Given the description of an element on the screen output the (x, y) to click on. 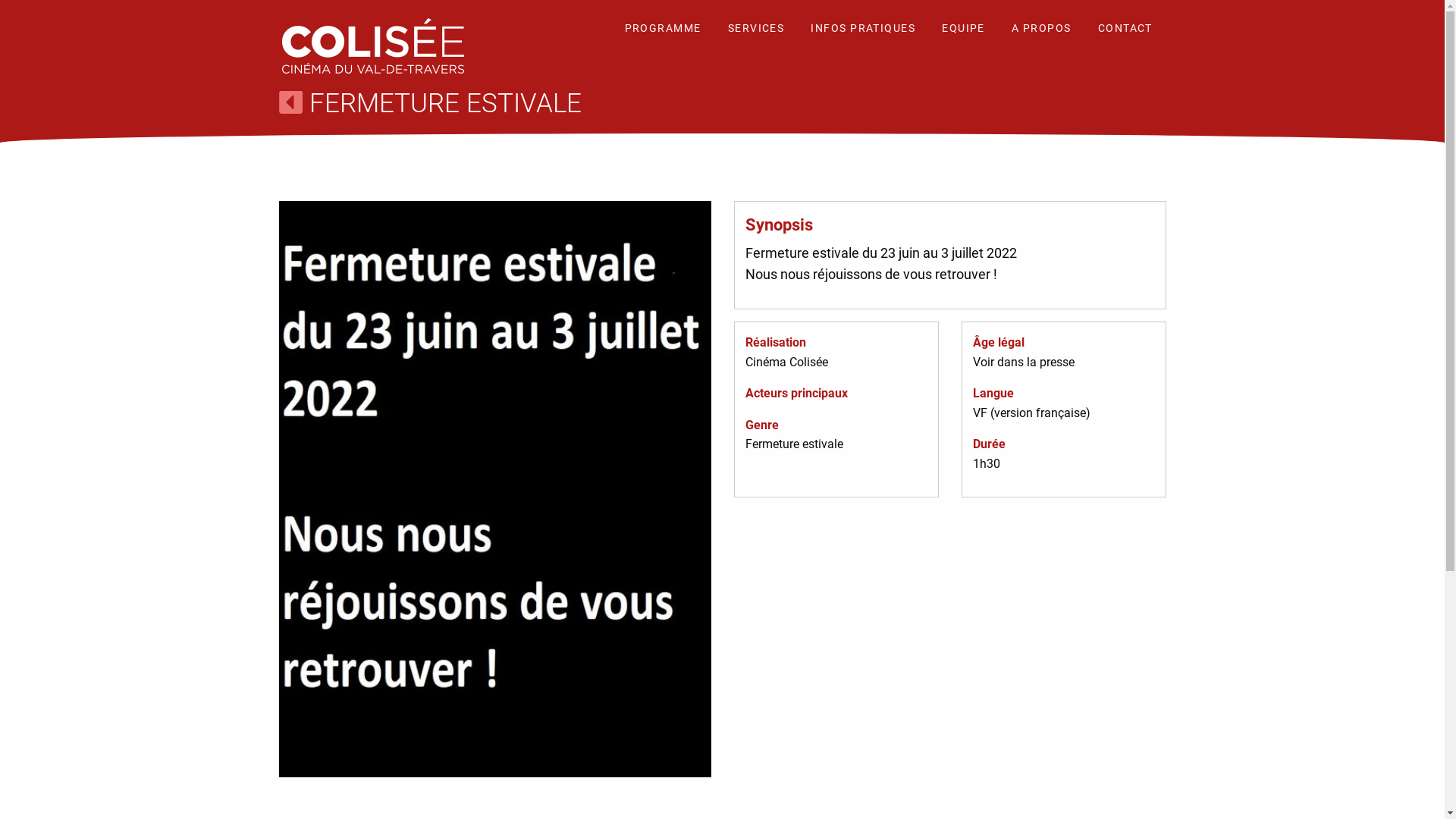
EQUIPE Element type: text (963, 30)
PROGRAMME Element type: text (662, 30)
SERVICES Element type: text (756, 30)
CONTACT Element type: text (1124, 30)
A PROPOS Element type: text (1041, 30)
INFOS PRATIQUES Element type: text (862, 30)
